Given the description of an element on the screen output the (x, y) to click on. 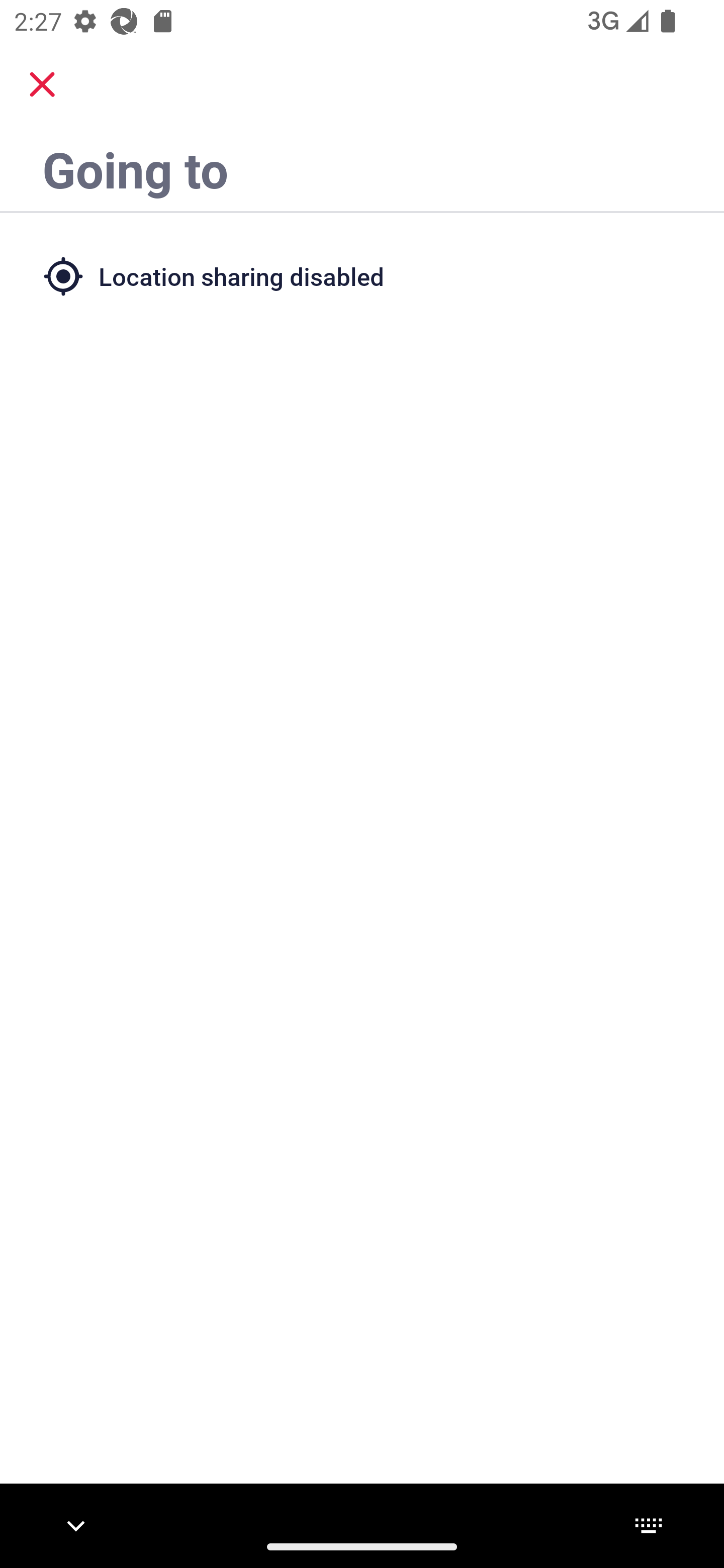
close. (42, 84)
Location sharing disabled (362, 275)
